Given the description of an element on the screen output the (x, y) to click on. 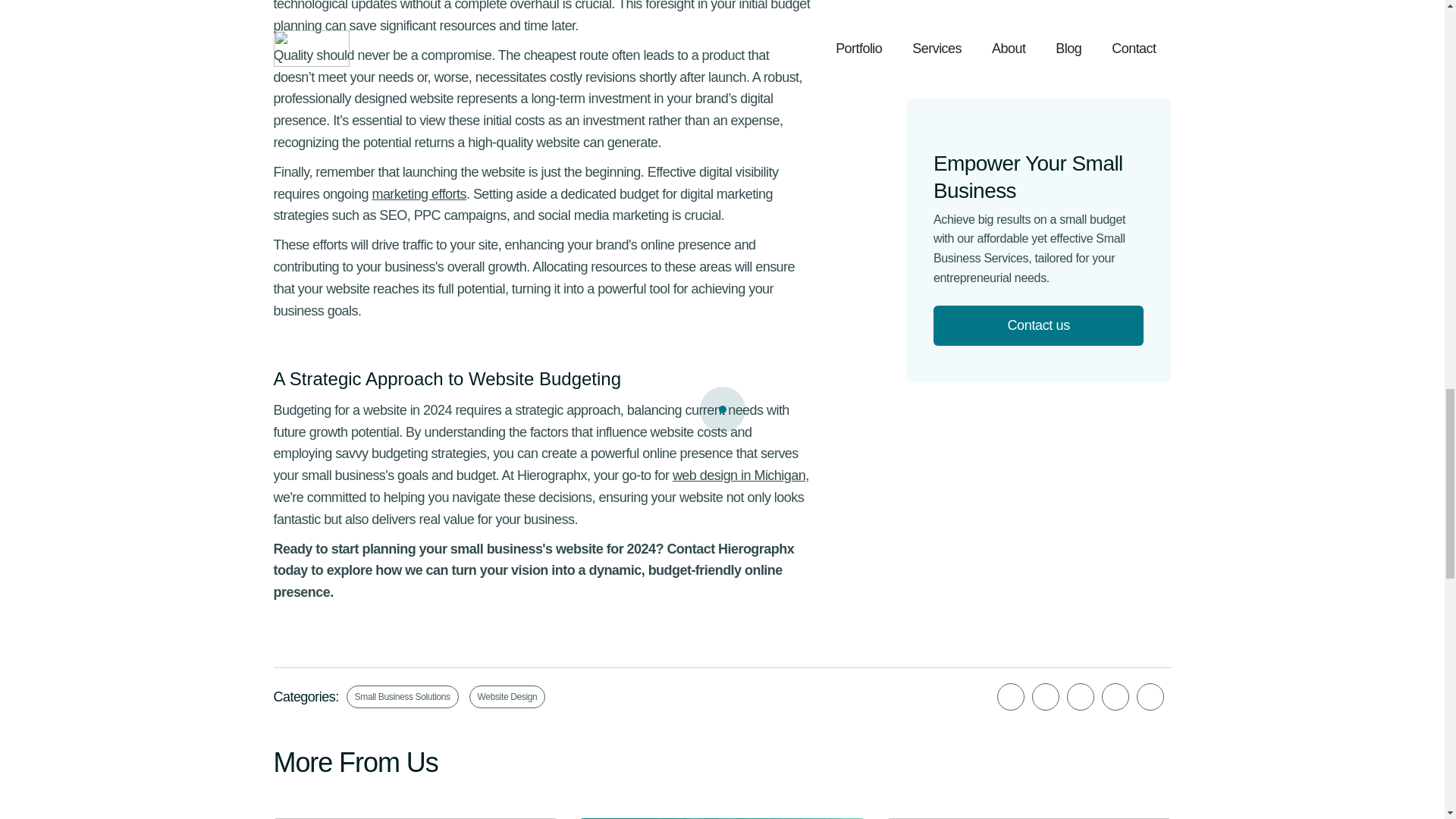
marketing efforts (418, 193)
Website Design (507, 696)
web design in Michigan (738, 475)
Small Business Solutions (402, 696)
